Given the description of an element on the screen output the (x, y) to click on. 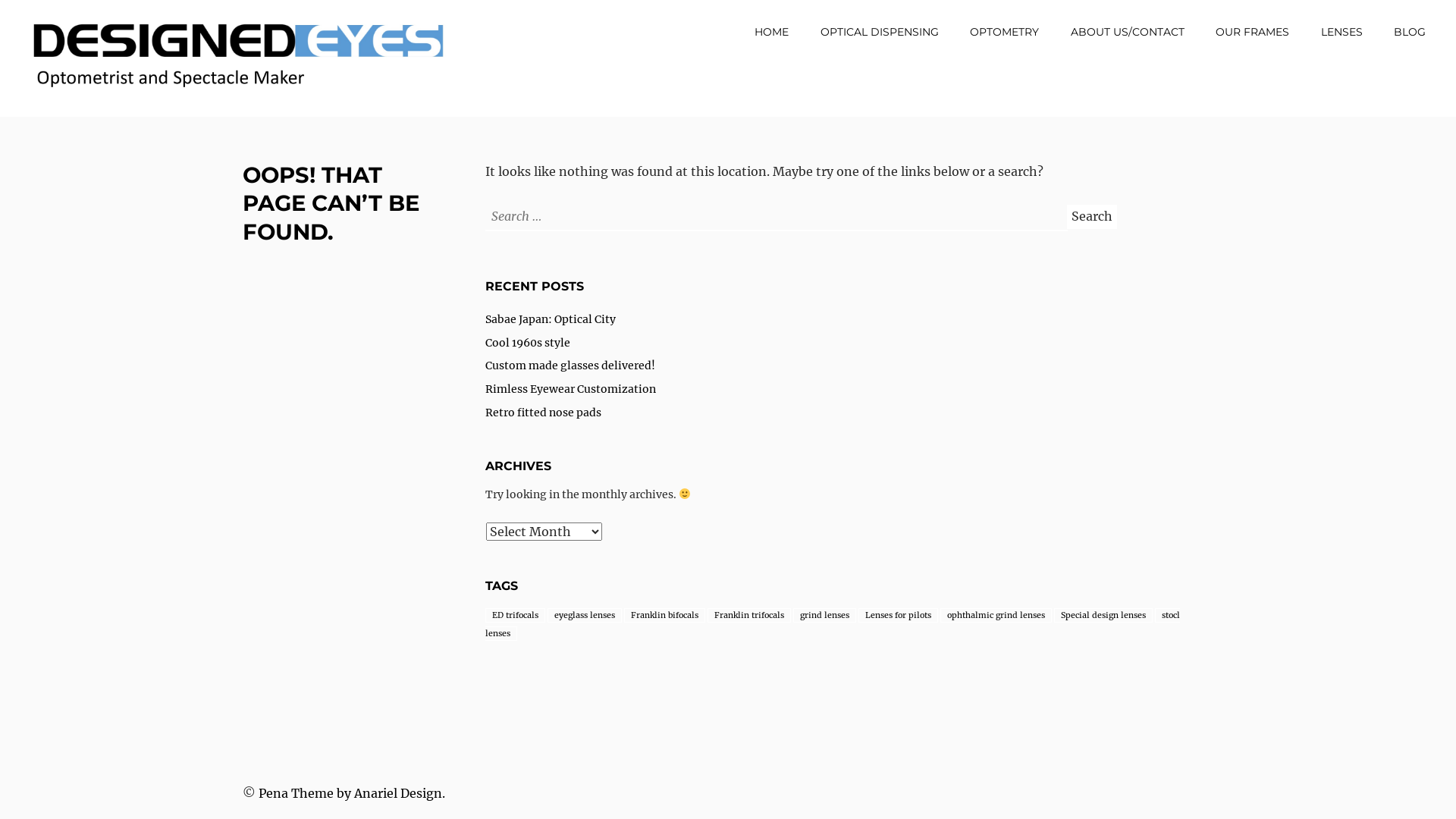
Cool 1960s style Element type: text (527, 342)
ABOUT US/CONTACT Element type: text (1127, 31)
OPTICAL DISPENSING Element type: text (879, 31)
Search Element type: text (1091, 216)
Custom made glasses delivered! Element type: text (570, 365)
OUR FRAMES Element type: text (1252, 31)
stocl lenses Element type: text (832, 624)
Franklin bifocals Element type: text (664, 615)
eyeglass lenses Element type: text (584, 615)
HOME Element type: text (771, 31)
Special design lenses Element type: text (1103, 615)
Sabae Japan: Optical City Element type: text (550, 319)
BLOG Element type: text (1409, 31)
Rimless Eyewear Customization Element type: text (570, 388)
ophthalmic grind lenses Element type: text (995, 615)
Retro fitted nose pads Element type: text (543, 412)
OPTOMETRY Element type: text (1003, 31)
Lenses for pilots Element type: text (898, 615)
grind lenses Element type: text (824, 615)
Pena Theme by Anariel Design. Element type: text (351, 792)
DESIGNED EYES ROSEBUD Element type: text (179, 118)
LENSES Element type: text (1341, 31)
ED trifocals Element type: text (515, 615)
Franklin trifocals Element type: text (748, 615)
